Given the description of an element on the screen output the (x, y) to click on. 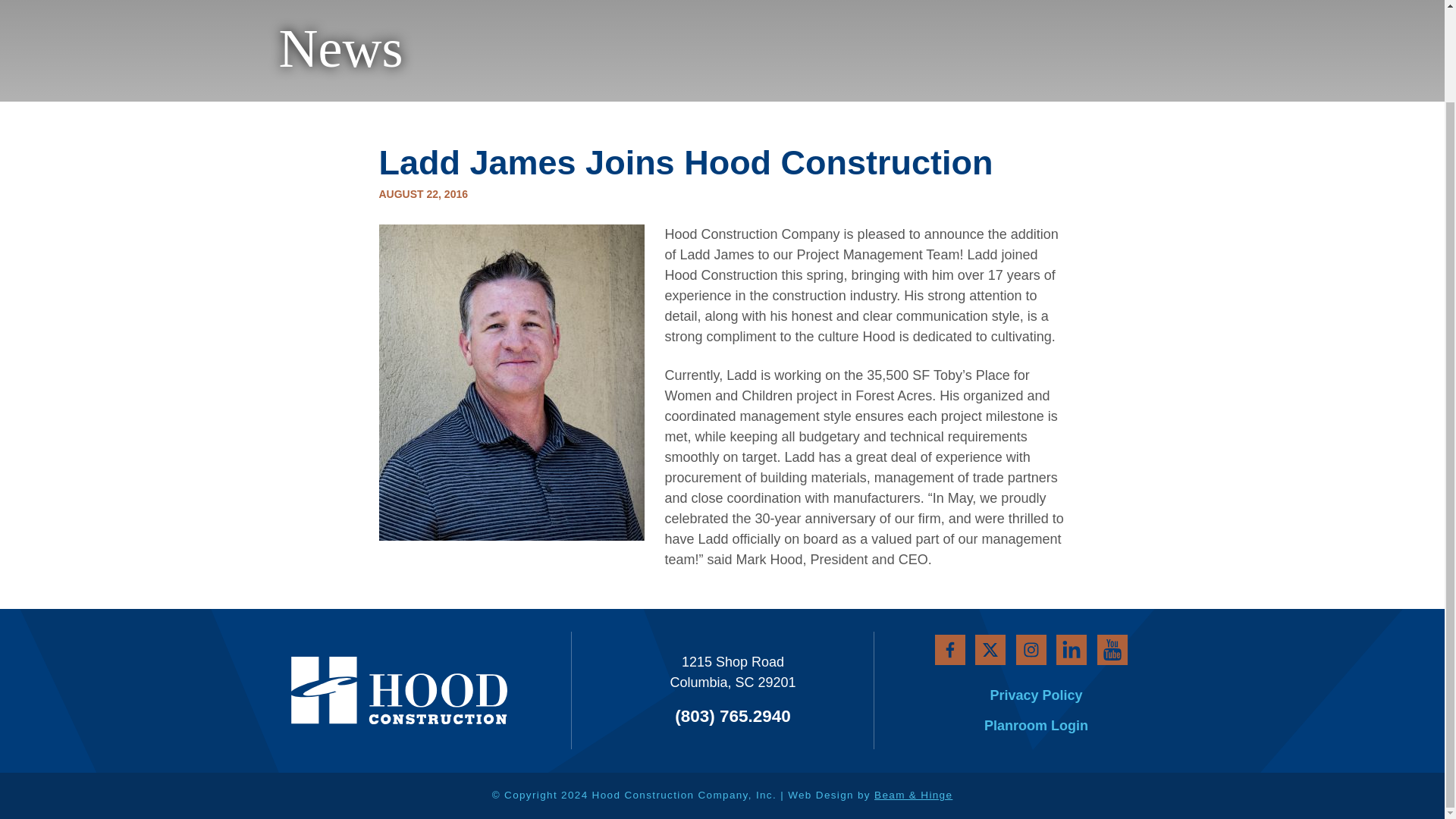
Social Icon (964, 645)
Privacy Policy (1046, 695)
Social Icon (1134, 646)
Social Icon (1007, 645)
Social Icon (1092, 645)
Planroom Login (1045, 726)
Hood Construction (365, 688)
Social Icon (1050, 645)
